Given the description of an element on the screen output the (x, y) to click on. 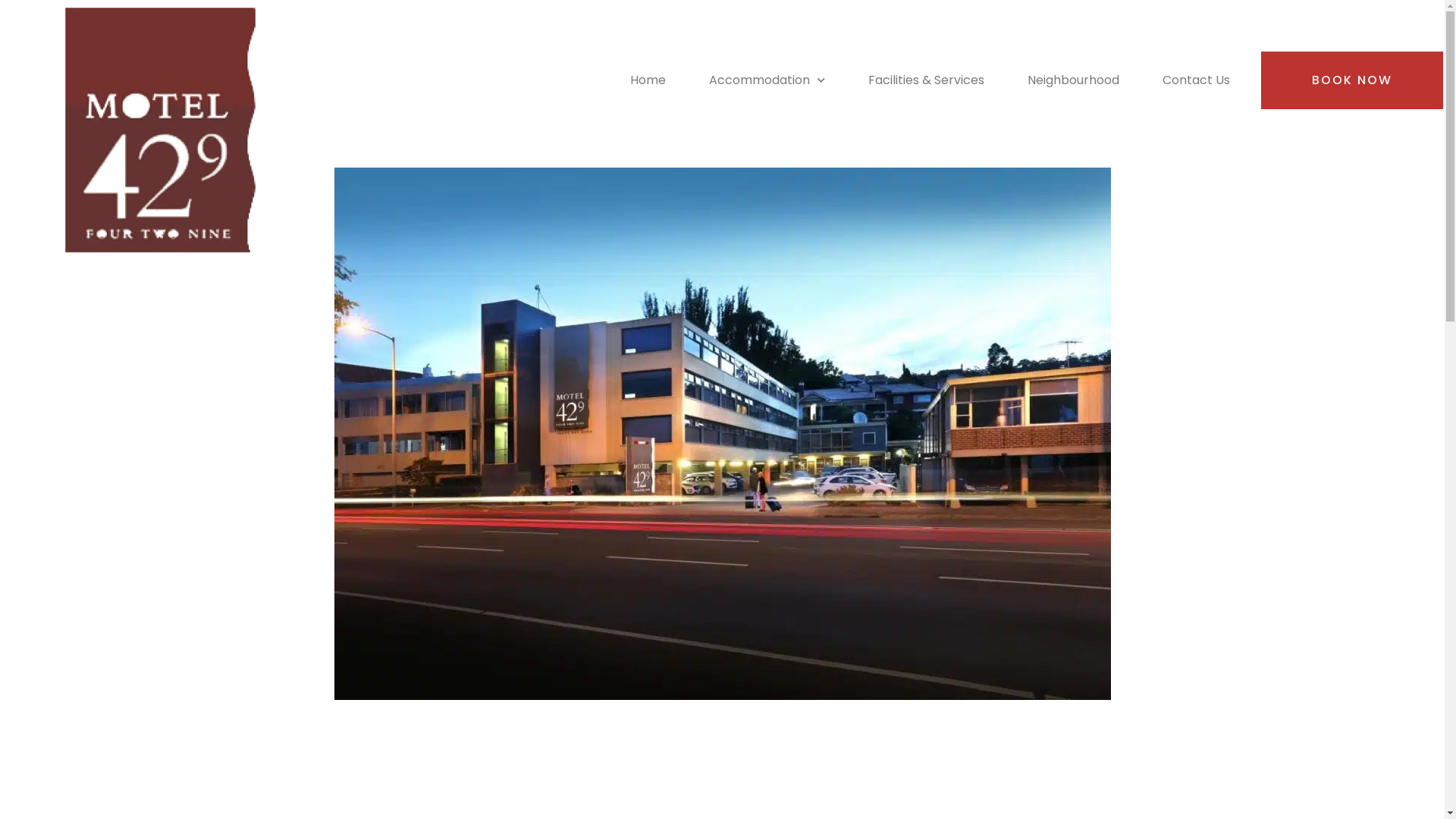
Accommodation Element type: text (767, 80)
BOOK NOW Element type: text (1352, 80)
Contact Us Element type: text (1196, 80)
Facilities & Services Element type: text (926, 80)
Neighbourhood Element type: text (1073, 80)
Home Element type: text (647, 80)
